Given the description of an element on the screen output the (x, y) to click on. 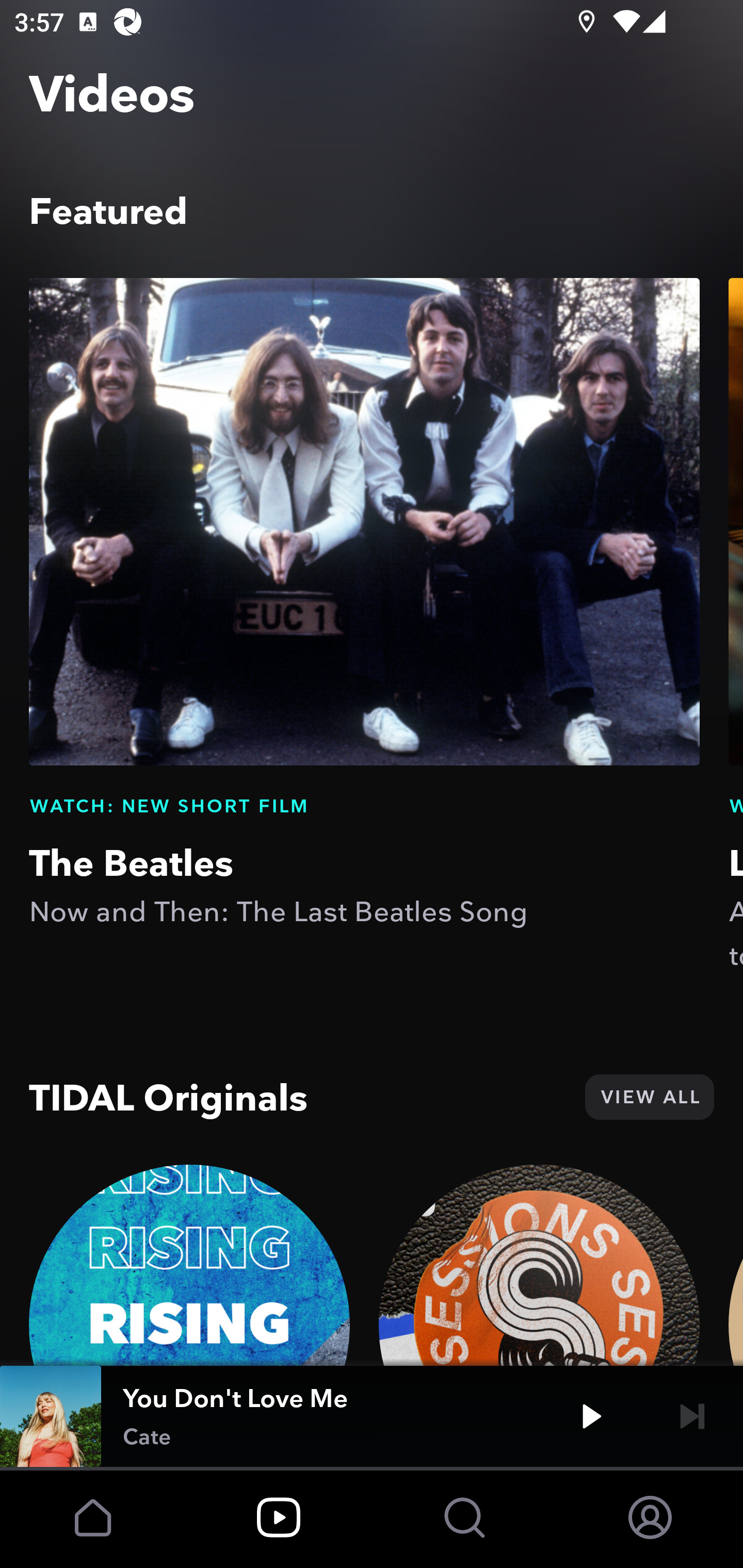
VIEW ALL (649, 1096)
You Don't Love Me Cate Play (371, 1416)
Play (590, 1416)
